Given the description of an element on the screen output the (x, y) to click on. 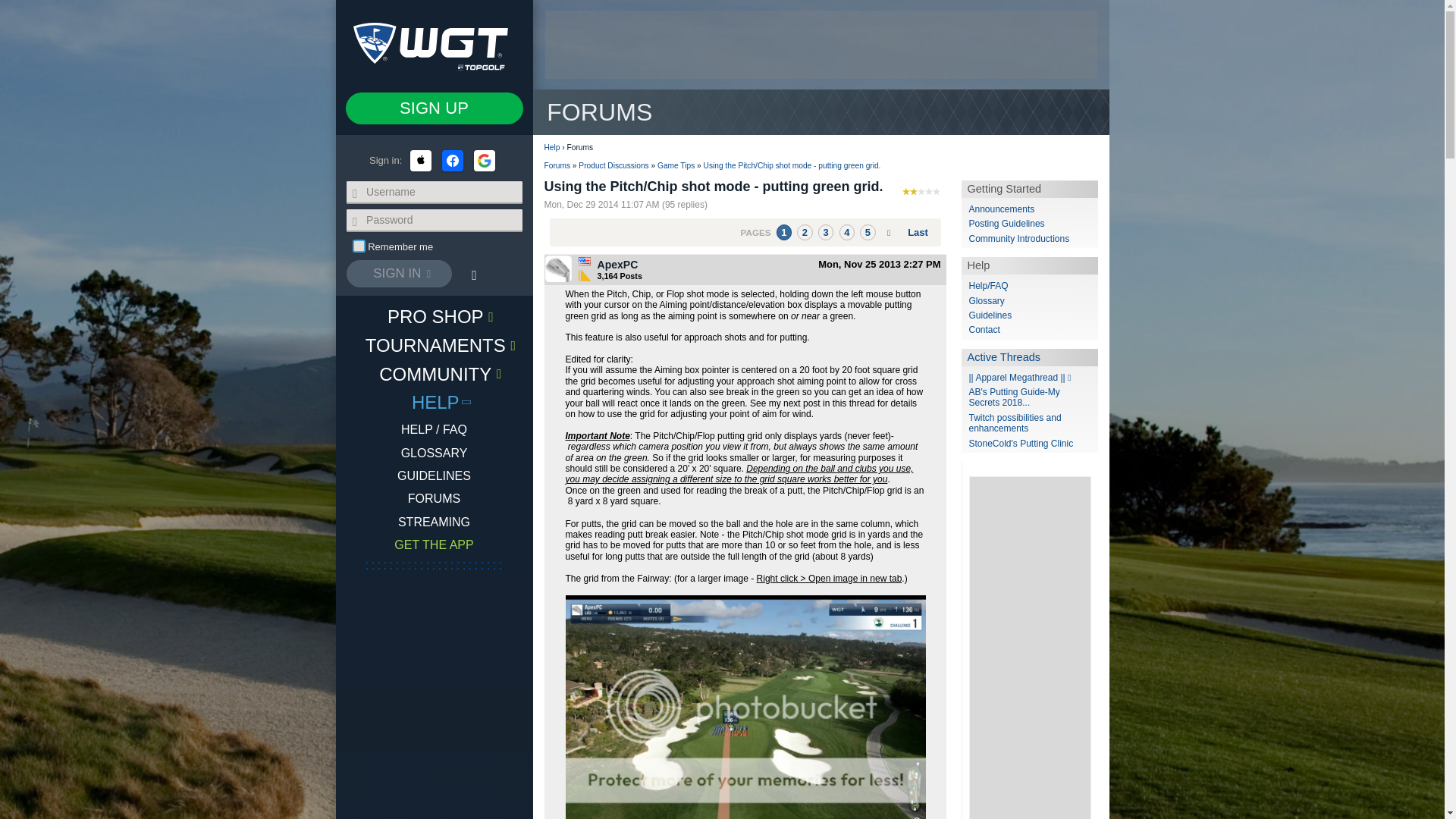
HELP (433, 401)
SIGN IN (398, 273)
COMMUNITY (433, 373)
Sign in with Google (484, 160)
SIGN UP (434, 108)
Sign in with Facebook (452, 160)
United States (583, 261)
TOURNAMENTS (433, 344)
PRO SHOP (433, 316)
GUIDELINES (433, 476)
